Given the description of an element on the screen output the (x, y) to click on. 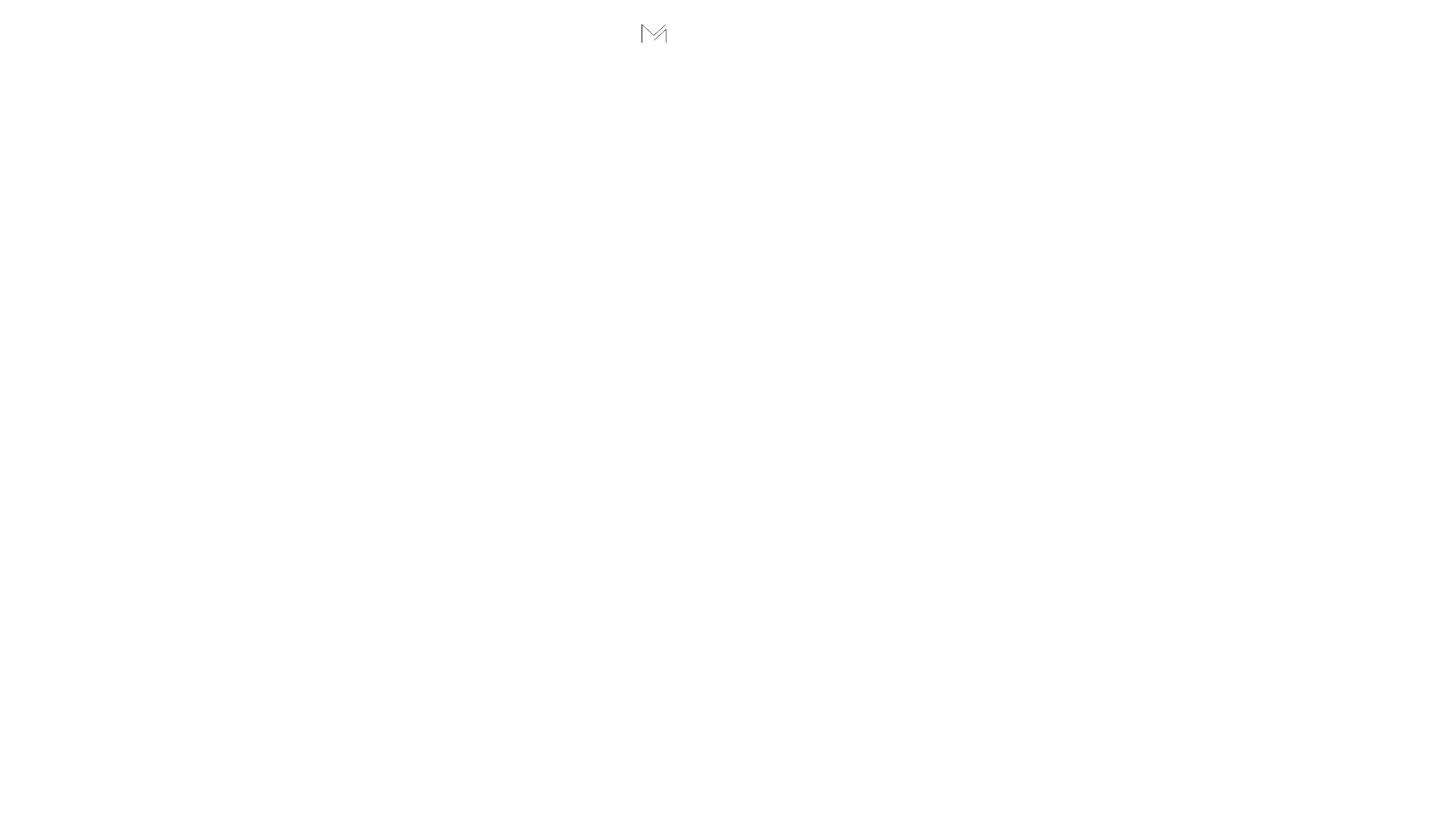
WPBrigade Element type: text (1411, 807)
